Given the description of an element on the screen output the (x, y) to click on. 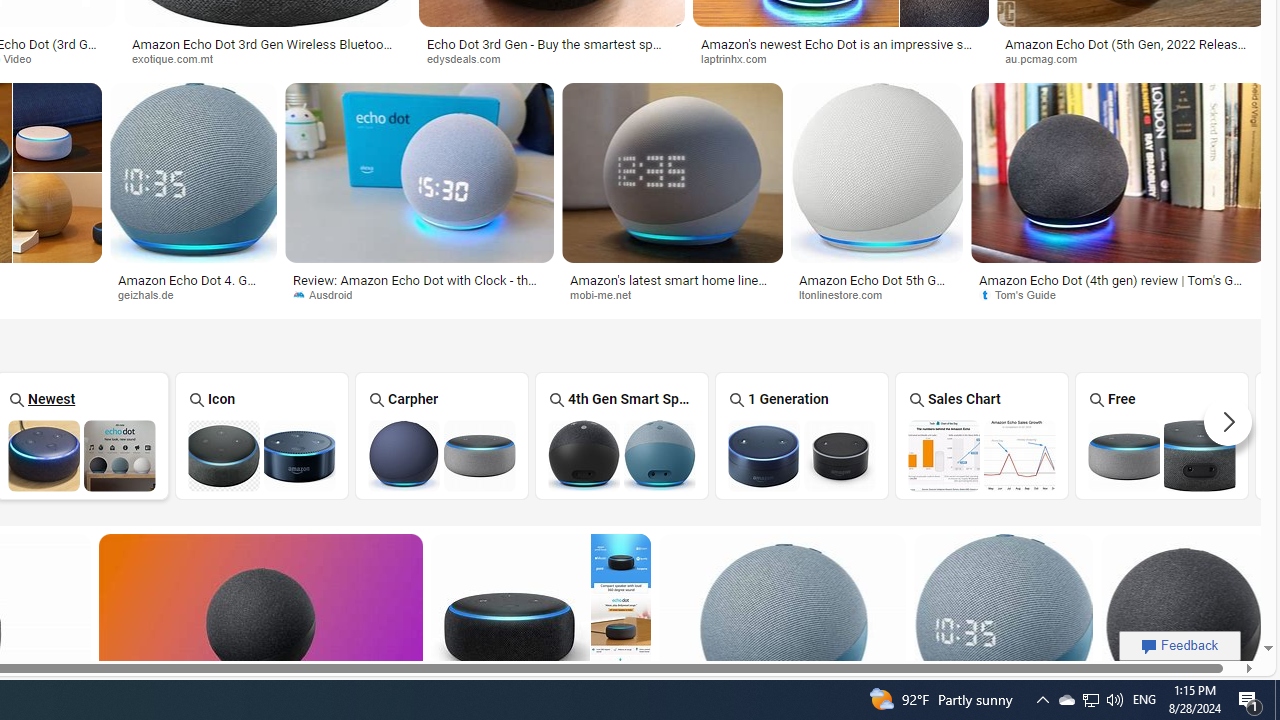
geizhals.de (192, 295)
Icon (262, 435)
Tom's Guide (1024, 294)
4th Gen Smart Speaker Alexa (621, 435)
Amazon Echo Dot 1 Generation 1 Generation (801, 435)
Scroll more suggestions right (1227, 421)
edysdeals.com (552, 58)
Free (1162, 435)
au.pcmag.com (1131, 58)
